Given the description of an element on the screen output the (x, y) to click on. 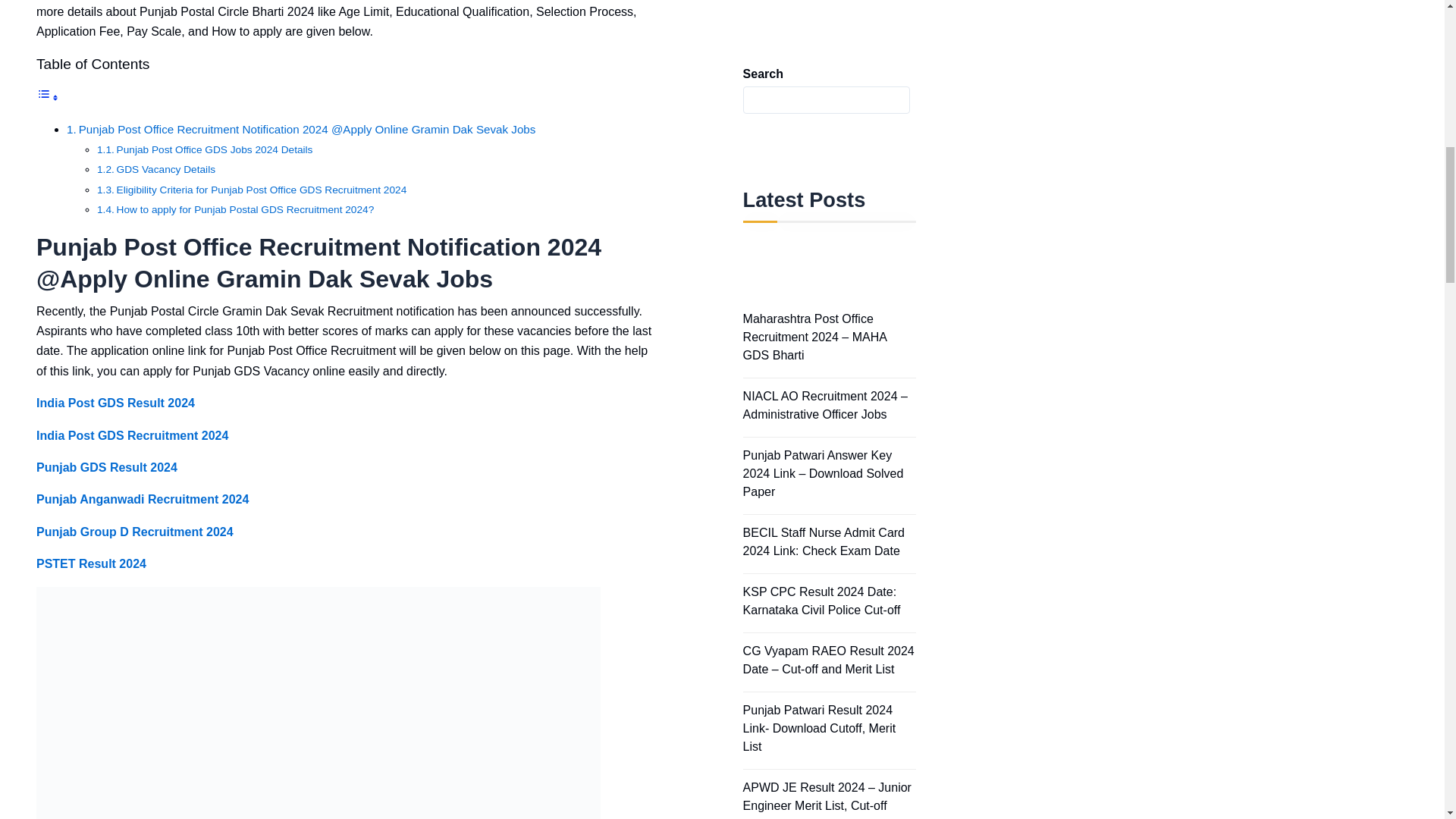
How to apply for Punjab Postal GDS Recruitment 2024? (235, 209)
GDS Vacancy Details (156, 169)
Punjab Group D Recruitment 2024 (134, 532)
Punjab GDS Result 2024 (106, 467)
Punjab Post Office GDS Jobs 2024 Details (205, 149)
PSTET Result 2024 (91, 564)
Punjab Post Office GDS Jobs 2024 Details (205, 149)
India Post GDS Result 2024 (115, 403)
GDS Vacancy Details (156, 169)
How to apply for Punjab Postal GDS Recruitment 2024? (235, 209)
